Given the description of an element on the screen output the (x, y) to click on. 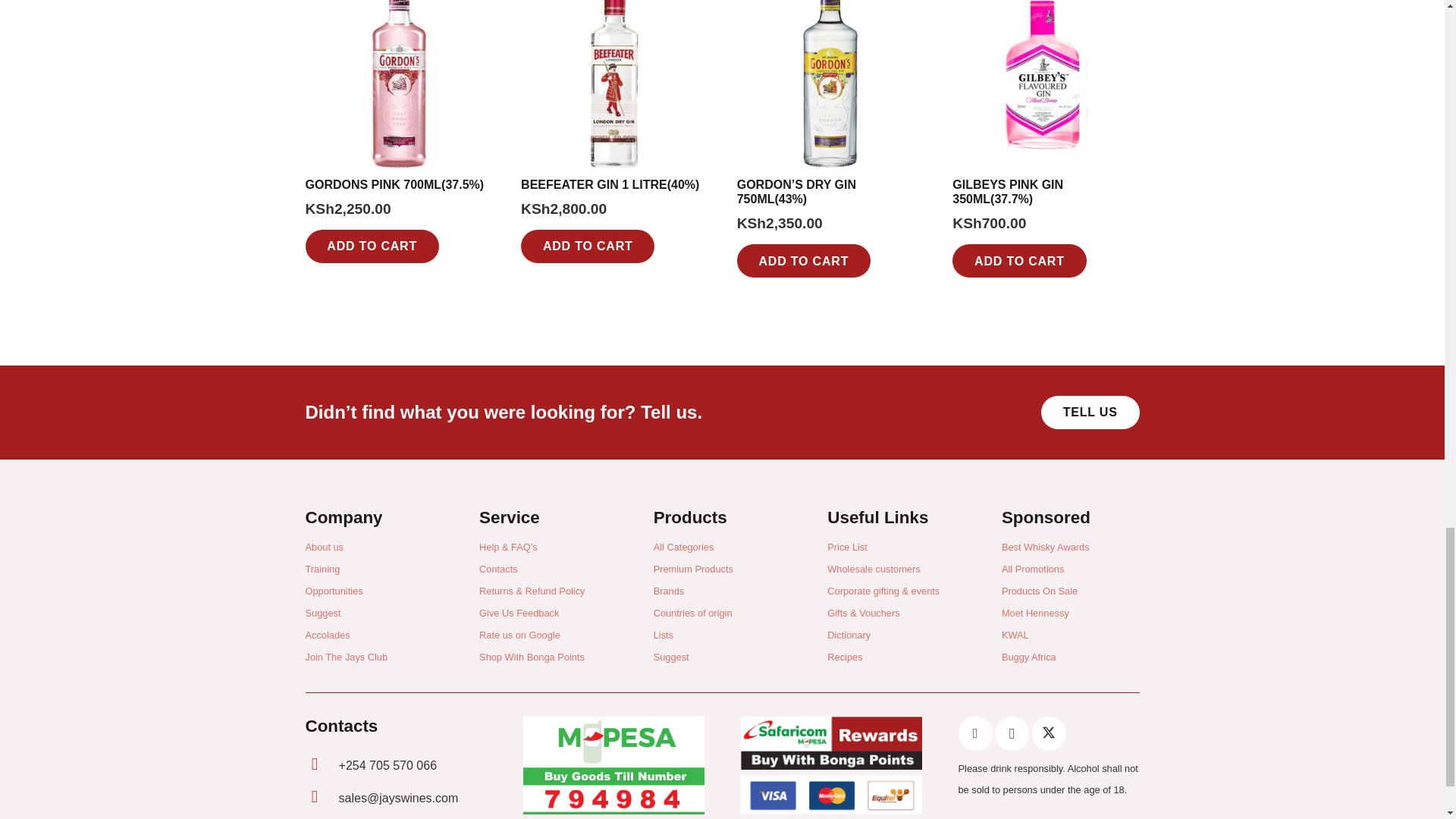
Instagram (1011, 733)
Facebook (975, 733)
Missing Products On Our Website (1090, 412)
Twitter (1048, 733)
